Given the description of an element on the screen output the (x, y) to click on. 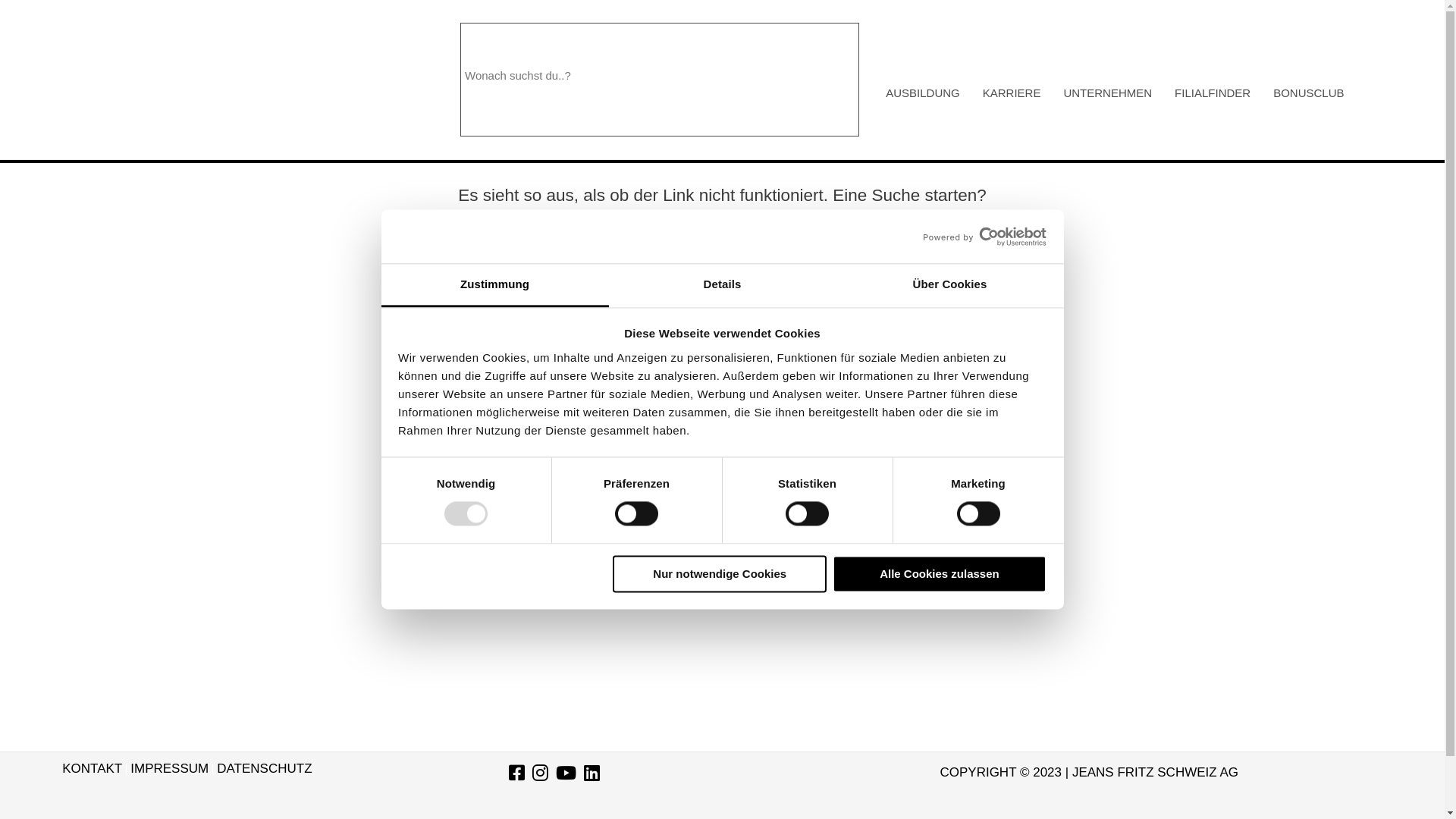
Nur notwendige Cookies Element type: text (719, 573)
Details Element type: text (721, 285)
Alle Cookies zulassen Element type: text (939, 573)
Zustimmung Element type: text (494, 285)
Suchen Element type: text (734, 79)
Suche Element type: text (845, 242)
